Given the description of an element on the screen output the (x, y) to click on. 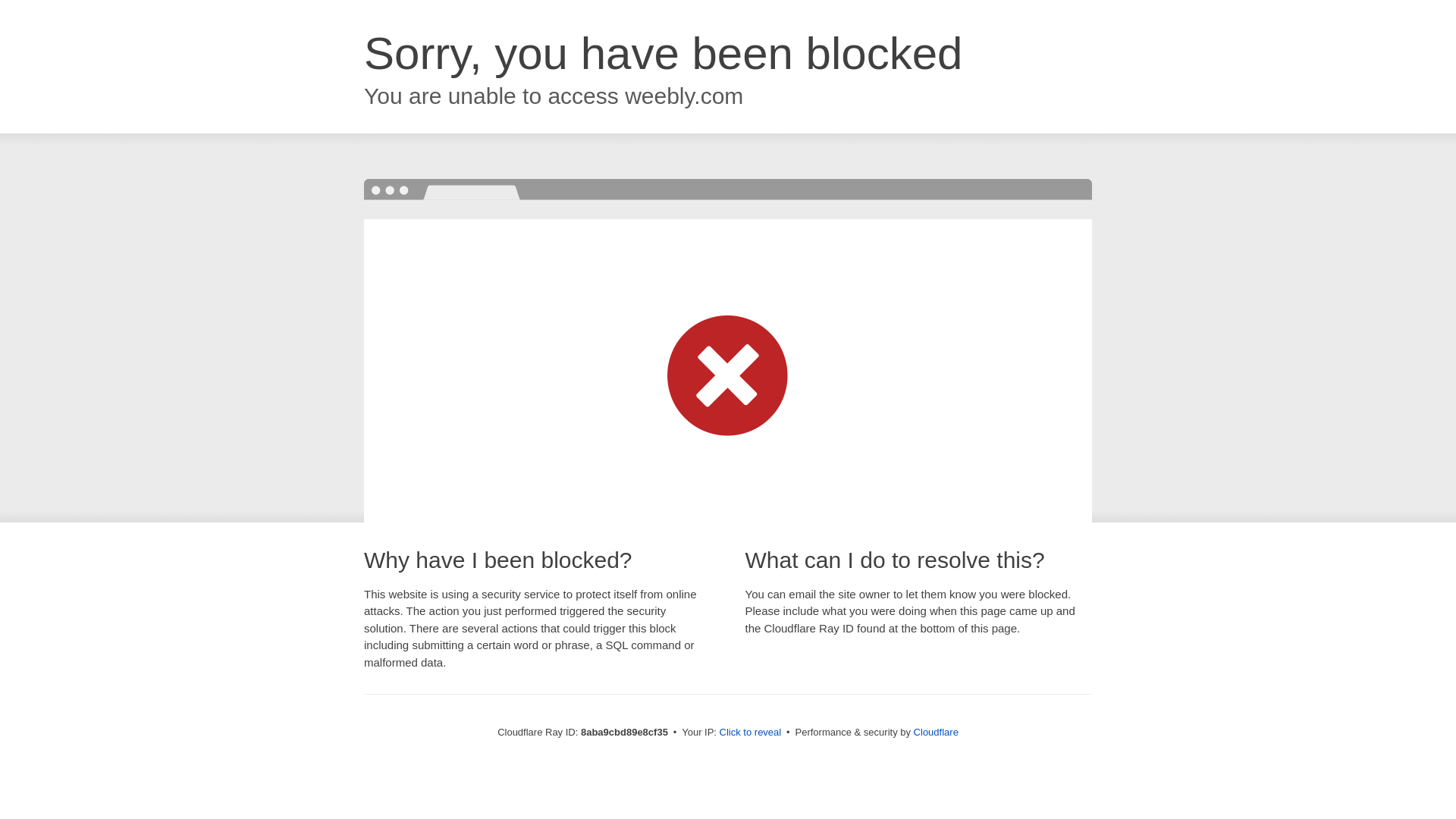
Click to reveal (750, 732)
Cloudflare (936, 731)
